Given the description of an element on the screen output the (x, y) to click on. 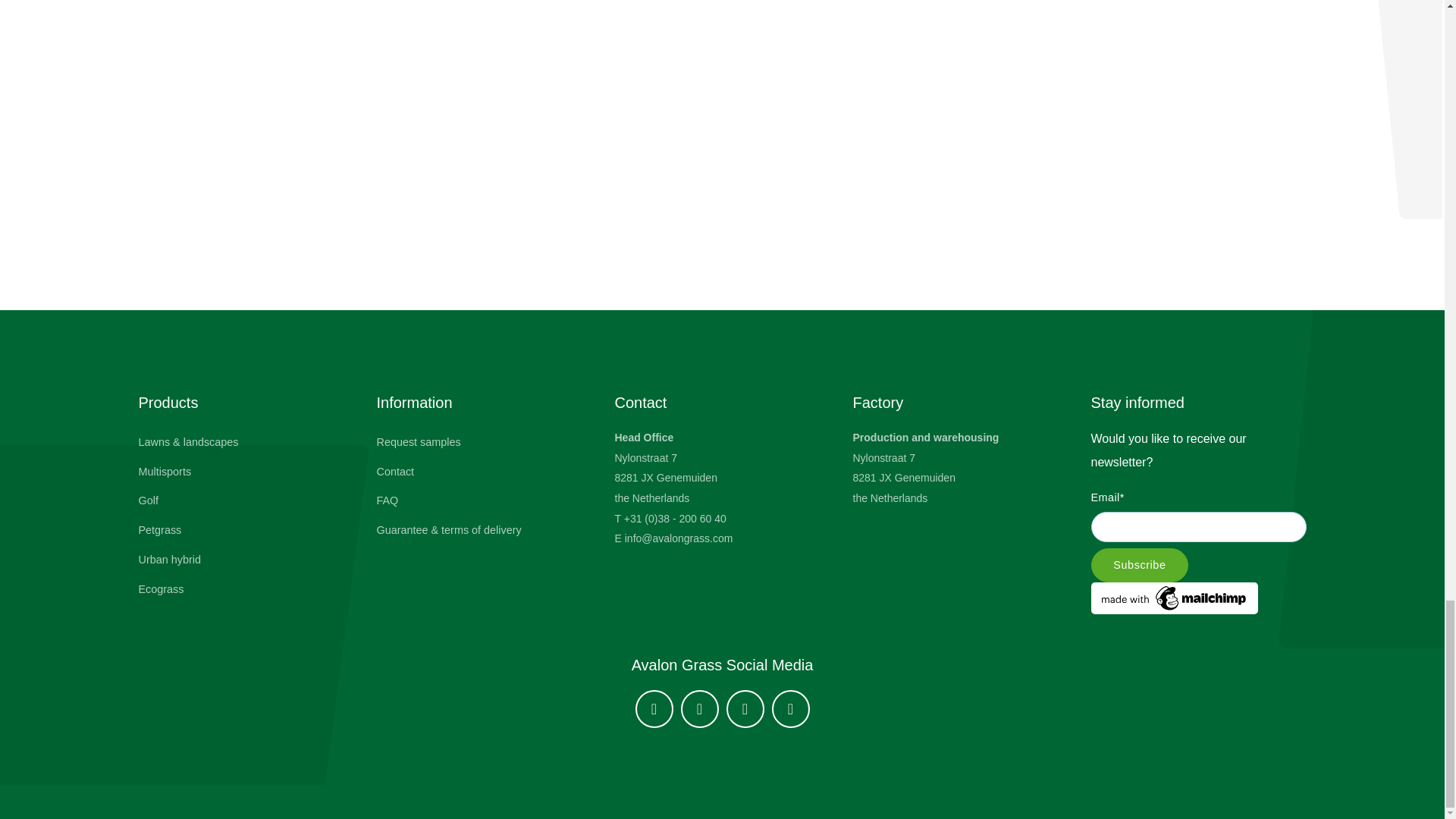
Subscribe (1139, 564)
